Given the description of an element on the screen output the (x, y) to click on. 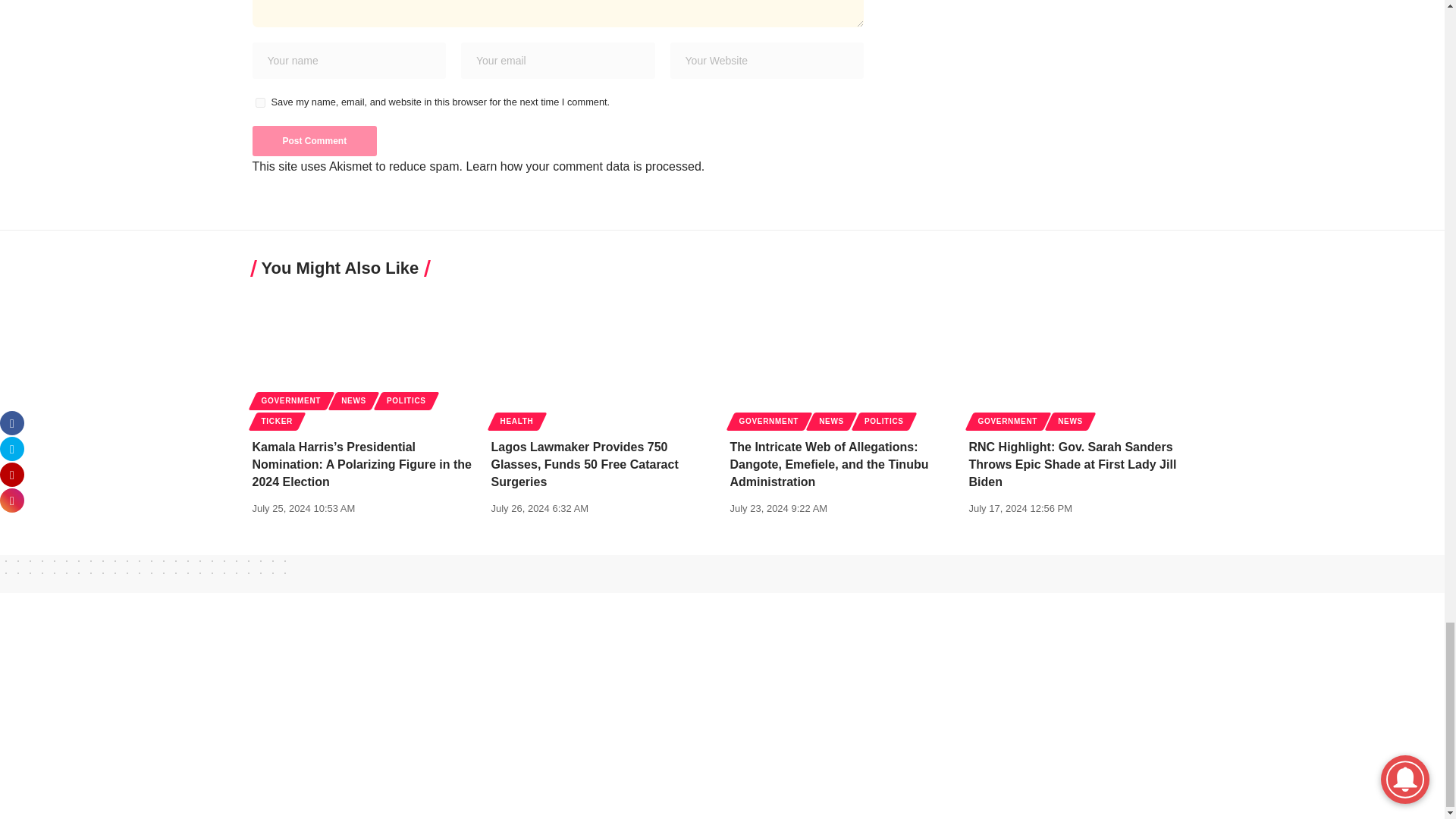
yes (259, 102)
Post Comment (314, 141)
